Given the description of an element on the screen output the (x, y) to click on. 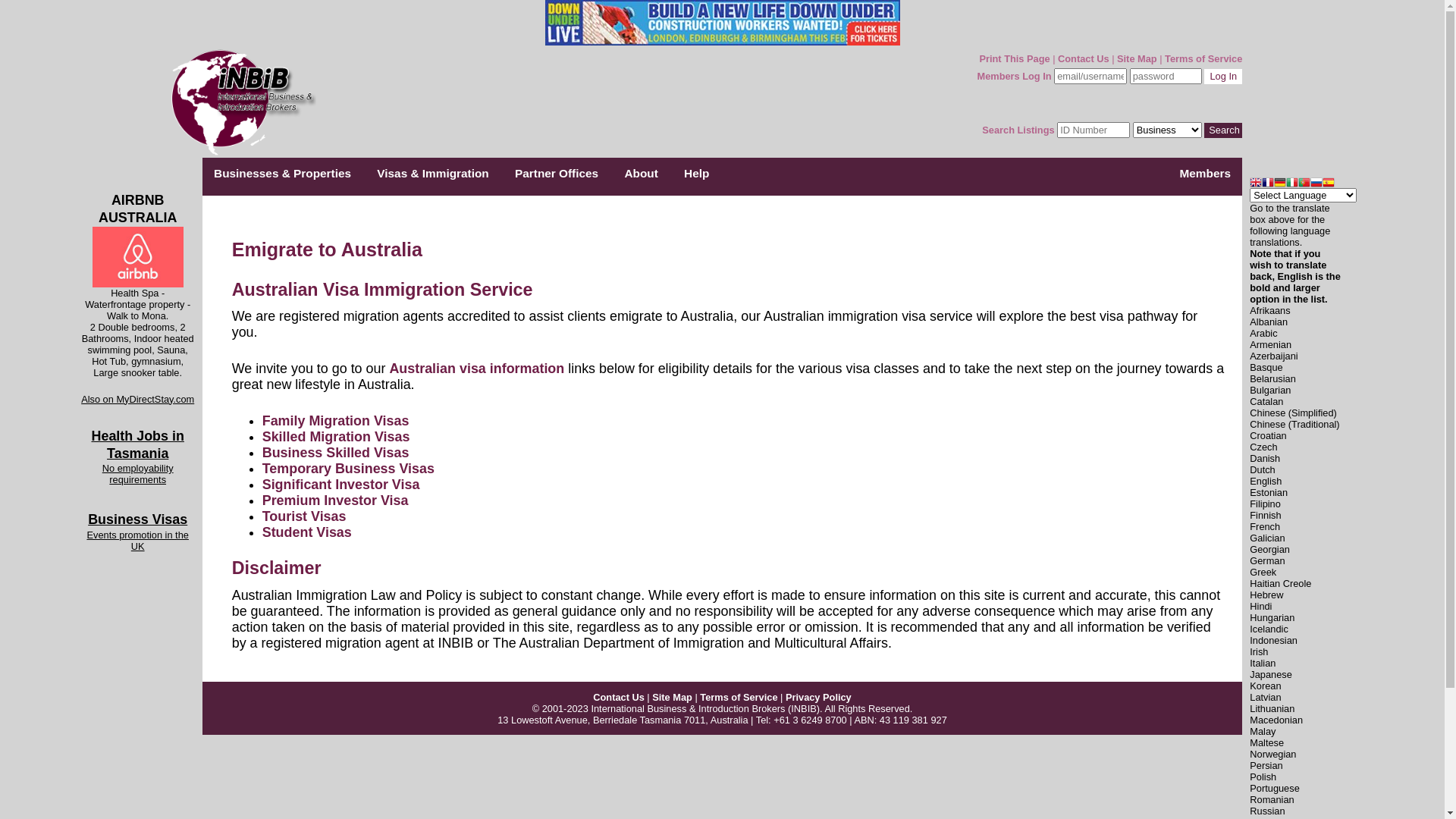
Site Map Element type: text (1137, 58)
Members Element type: text (1204, 173)
Privacy Policy Element type: text (818, 696)
Portuguese Element type: hover (1304, 183)
Terms of Service Element type: text (1203, 58)
Site Map Element type: text (672, 696)
Help Element type: text (696, 173)
Contact Us Element type: text (1083, 58)
Family Migration Visas Element type: text (335, 420)
Premium Investor Visa Element type: text (335, 500)
Businesses & Properties Element type: text (282, 173)
Business Skilled Visas Element type: text (335, 452)
Italian Element type: hover (1292, 183)
Temporary Business Visas Element type: text (348, 468)
English Element type: hover (1255, 183)
Business Visas
Events promotion in the UK Element type: text (137, 532)
About Element type: text (640, 173)
Russian Element type: hover (1316, 183)
Significant Investor Visa Element type: text (341, 484)
French Element type: hover (1267, 183)
Also on MyDirectStay.com Element type: text (137, 398)
International Business and Introduction Brokers (INBIB) Home Element type: hover (240, 153)
Log In Element type: text (1223, 75)
Australian visa information Element type: text (476, 368)
Student Visas Element type: text (306, 531)
German Element type: hover (1280, 183)
Visas & Immigration Element type: text (432, 173)
Spanish Element type: hover (1328, 183)
Partner Offices Element type: text (556, 173)
Contact Us Element type: text (618, 696)
Tourist Visas Element type: text (304, 516)
Health Jobs in Tasmania
No employability requirements Element type: text (137, 471)
Search Element type: text (1223, 130)
Terms of Service Element type: text (738, 696)
Print This Page Element type: text (1014, 58)
Skilled Migration Visas Element type: text (336, 436)
